Given the description of an element on the screen output the (x, y) to click on. 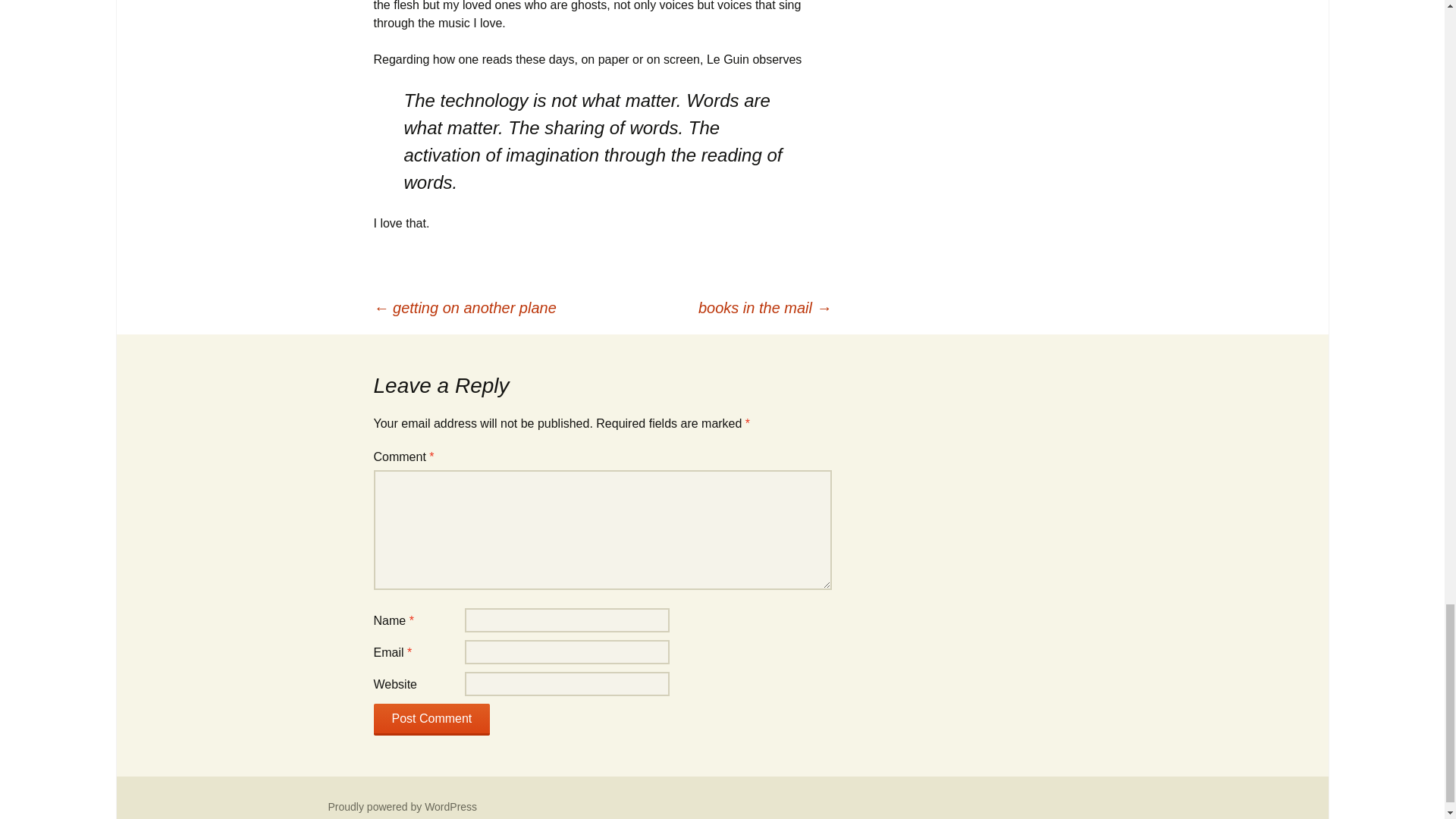
Post Comment (430, 719)
Post Comment (430, 719)
Proudly powered by WordPress (402, 806)
